Given the description of an element on the screen output the (x, y) to click on. 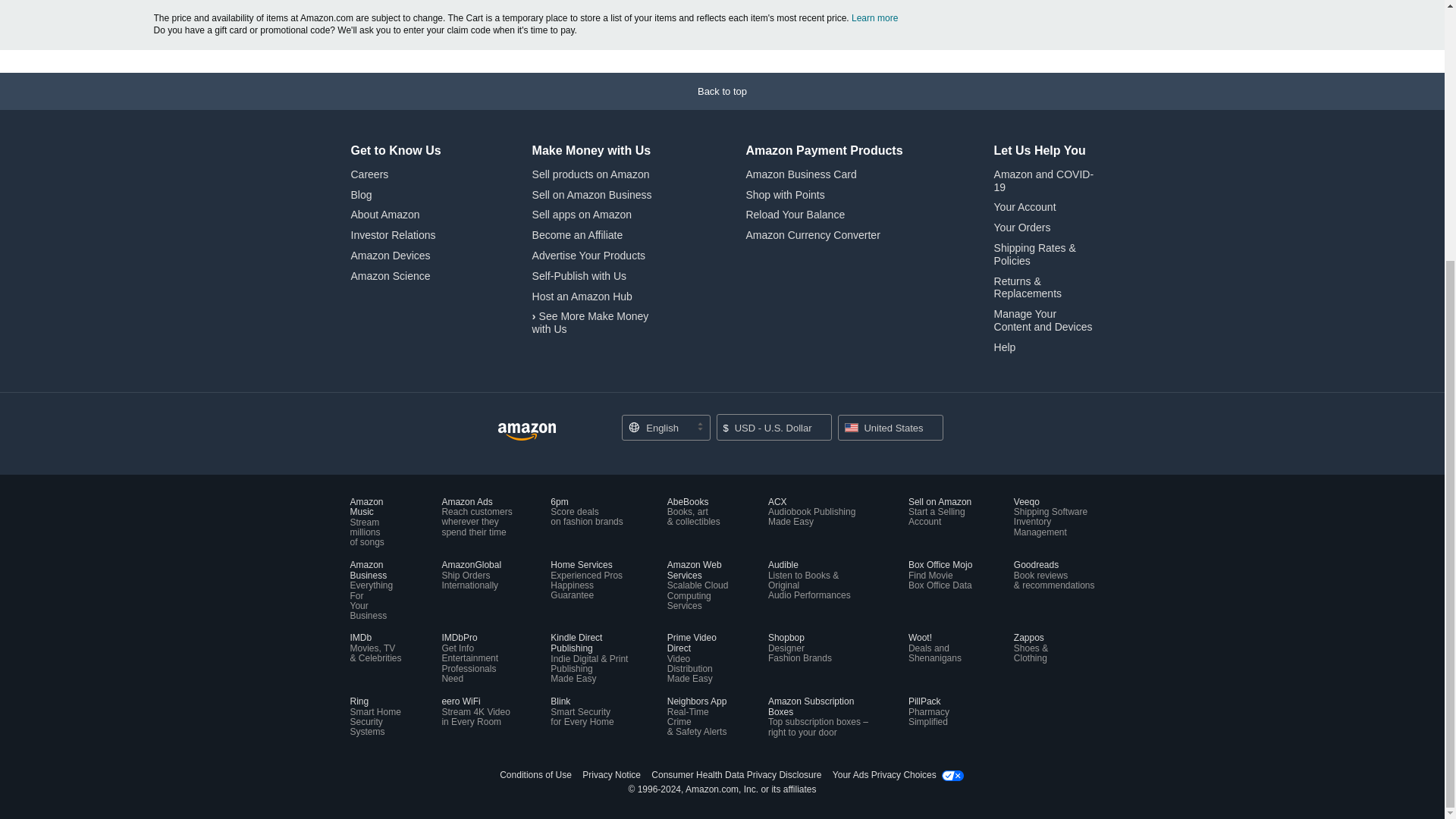
Investor Relations (392, 234)
Amazon Devices (389, 255)
Sell on Amazon Business (592, 194)
See More Make Money with Us (590, 322)
Careers (369, 174)
Host an Amazon Hub (581, 296)
Self-Publish with Us (579, 275)
About Amazon (384, 214)
Learn more (874, 18)
Become an Affiliate (577, 234)
